Given the description of an element on the screen output the (x, y) to click on. 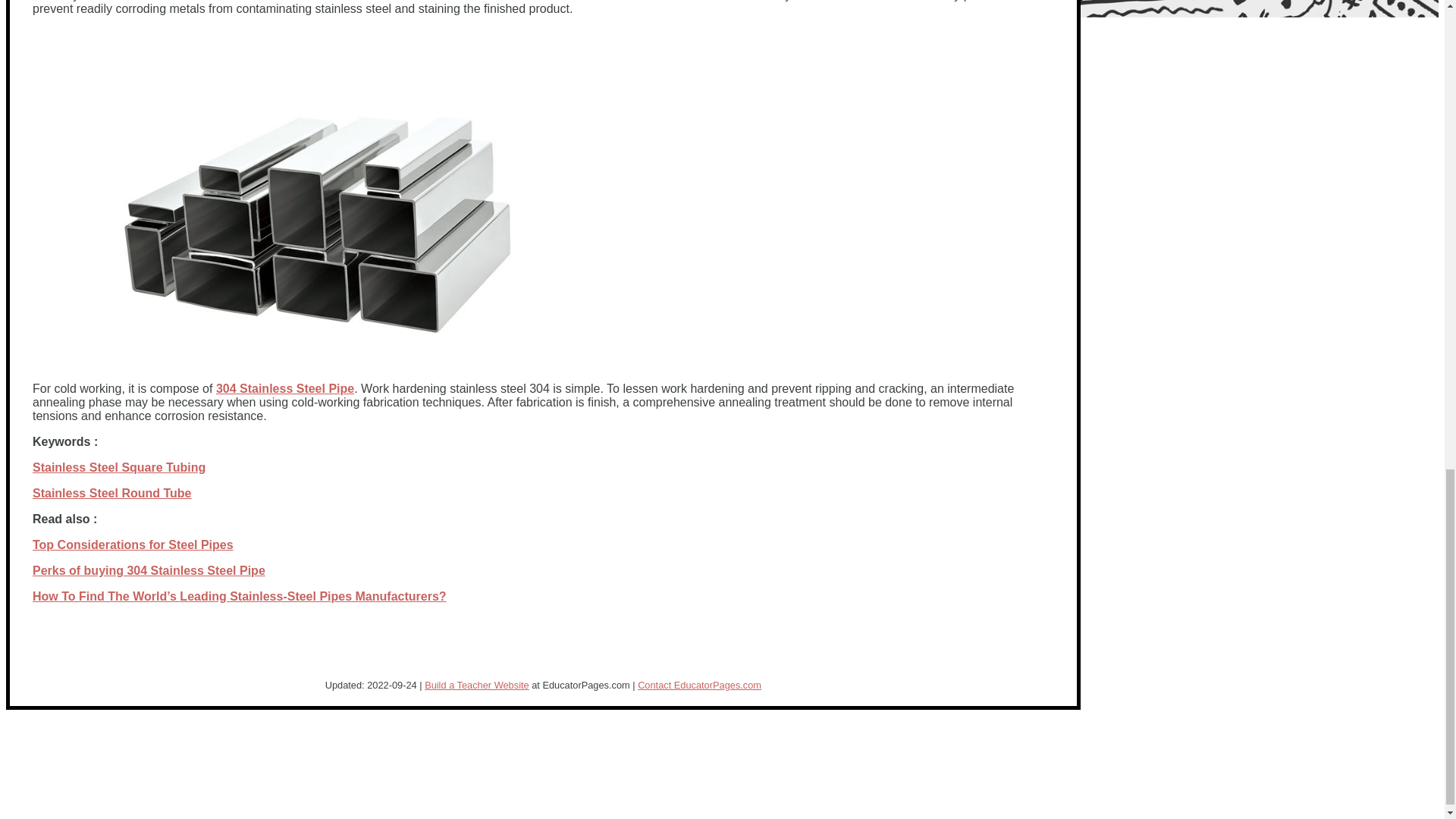
304 Stainless Steel Pipe (284, 388)
Perks of buying 304 Stainless Steel Pipe (148, 570)
Stainless Steel Square Tubing (118, 467)
Top Considerations for Steel Pipes (132, 544)
Build a Teacher Website (477, 685)
Contact EducatorPages.com (699, 685)
Stainless Steel Round Tube (112, 492)
